Given the description of an element on the screen output the (x, y) to click on. 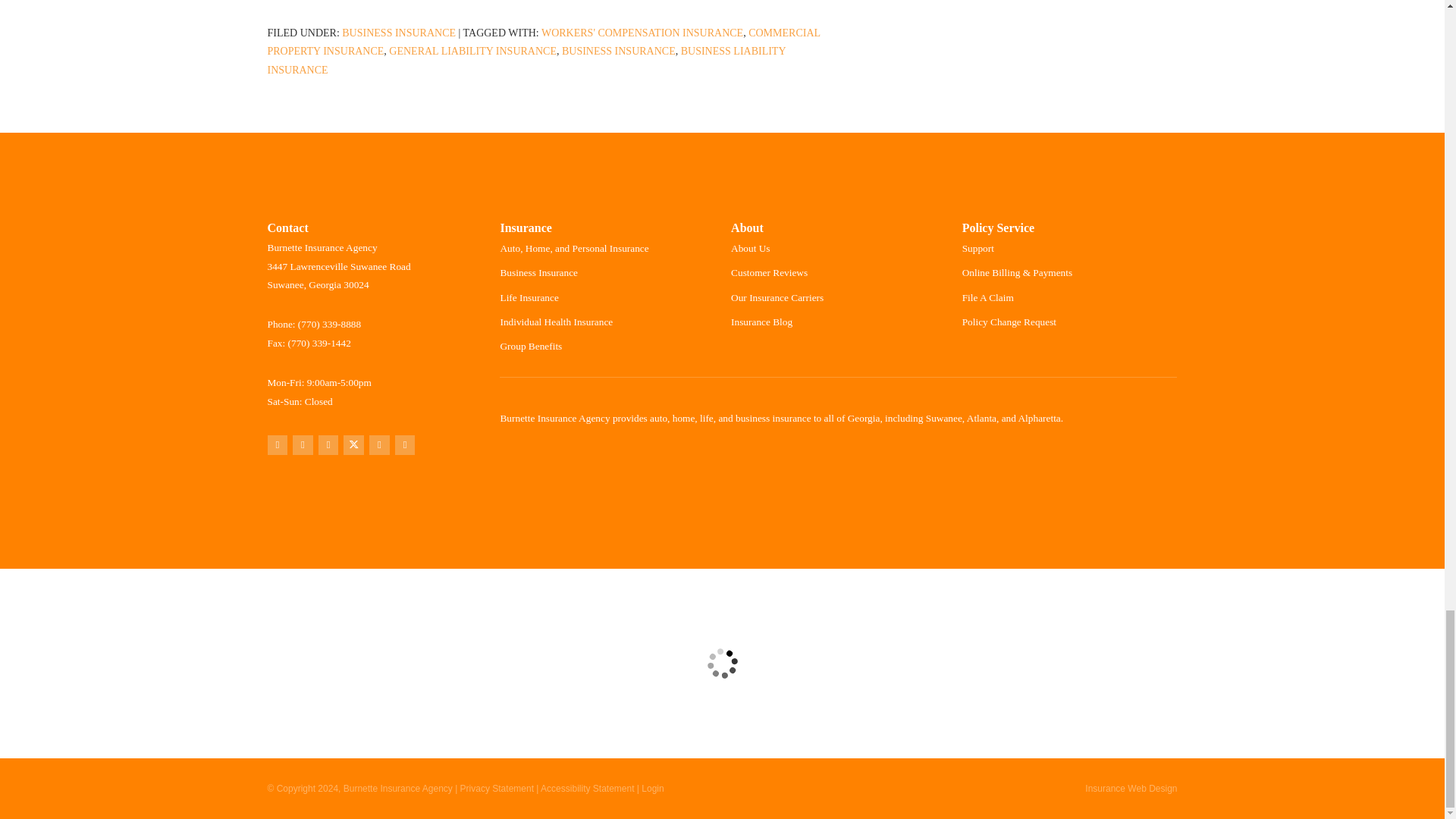
LinkedIn (379, 444)
Yelp (302, 444)
Google Maps (276, 444)
General Liability Insurance (472, 50)
Business Insurance (398, 32)
Commercial Property Insurance (542, 42)
X (353, 444)
Business Liability Insurance (526, 60)
Workers' Compensation Insurance (641, 32)
Facebook (328, 444)
Business Insurance (618, 50)
